Given the description of an element on the screen output the (x, y) to click on. 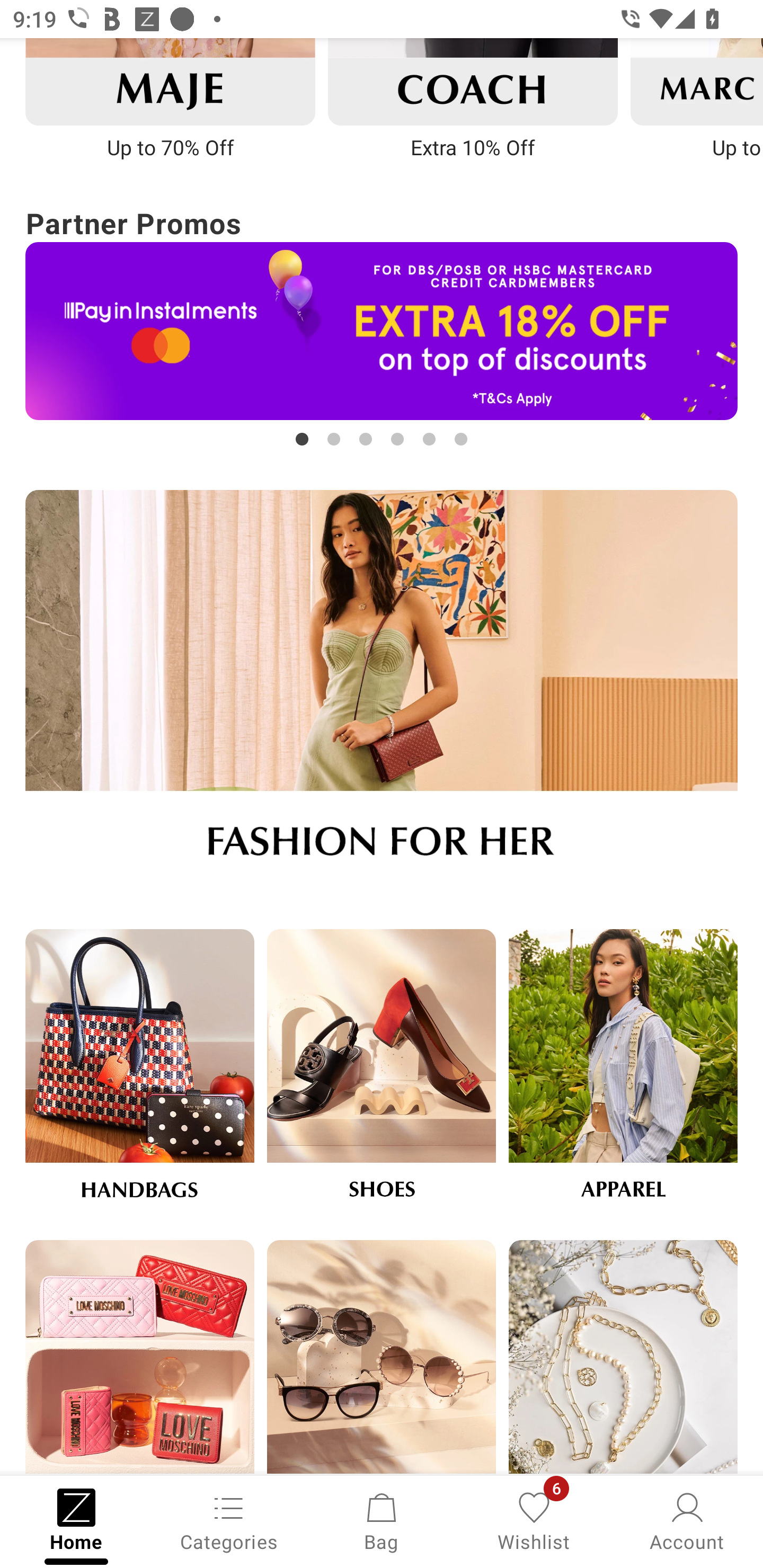
Campaign banner (170, 81)
Campaign banner (473, 81)
Partner Promos Campaign banner (381, 325)
Campaign banner (381, 330)
Campaign banner (381, 689)
Campaign banner (139, 1072)
Campaign banner (381, 1072)
Campaign banner (622, 1072)
Campaign banner (139, 1357)
Campaign banner (381, 1357)
Campaign banner (622, 1357)
Categories (228, 1519)
Bag (381, 1519)
Wishlist, 6 new notifications Wishlist (533, 1519)
Account (686, 1519)
